Given the description of an element on the screen output the (x, y) to click on. 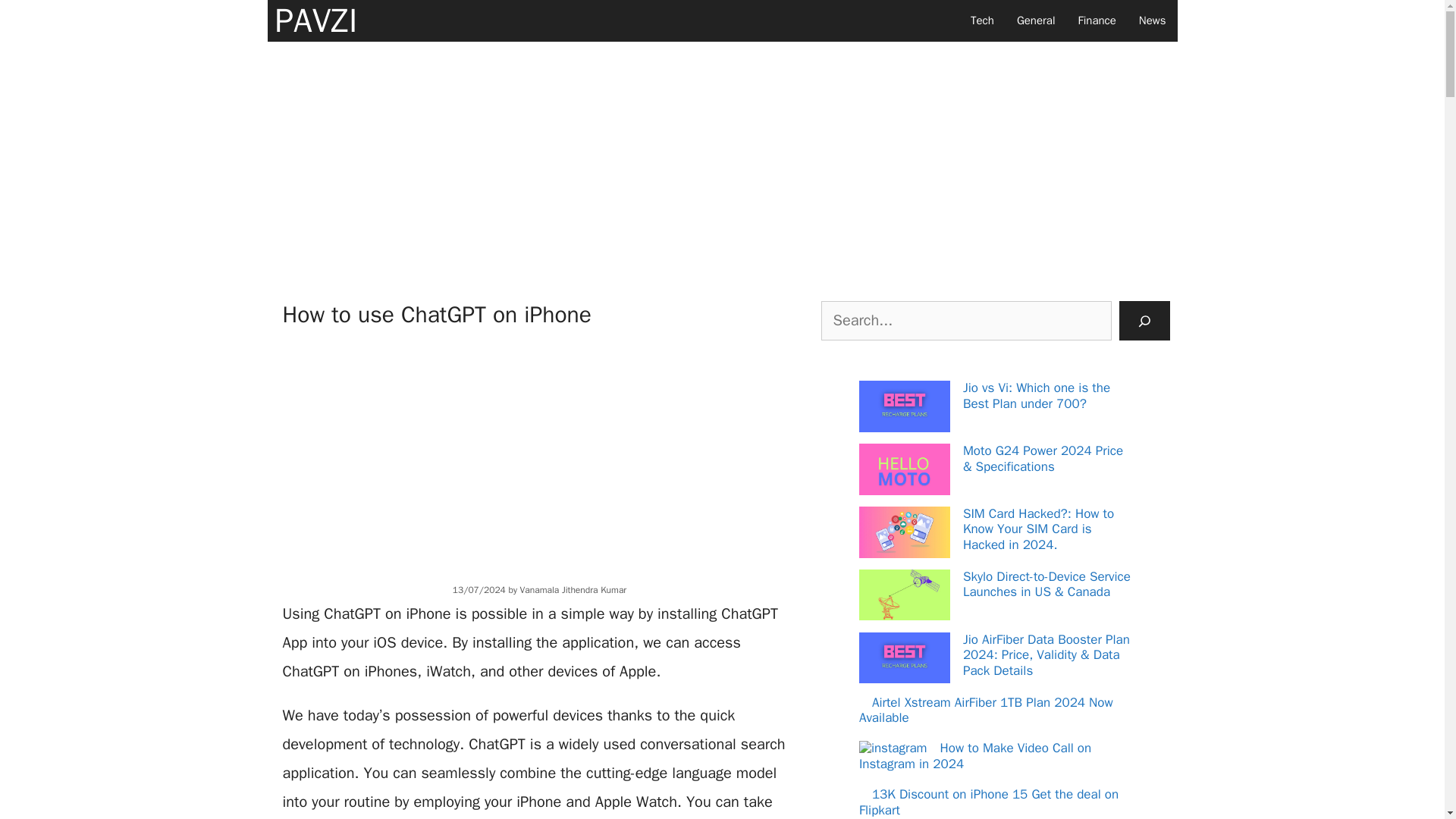
Tech (982, 20)
Finance (1096, 20)
Vanamala Jithendra Kumar (573, 589)
View all posts by Vanamala Jithendra Kumar (573, 589)
News (1151, 20)
Jio vs Vi: Which one is the Best Plan under 700? (1035, 395)
General (1036, 20)
PAVZI (315, 20)
